Given the description of an element on the screen output the (x, y) to click on. 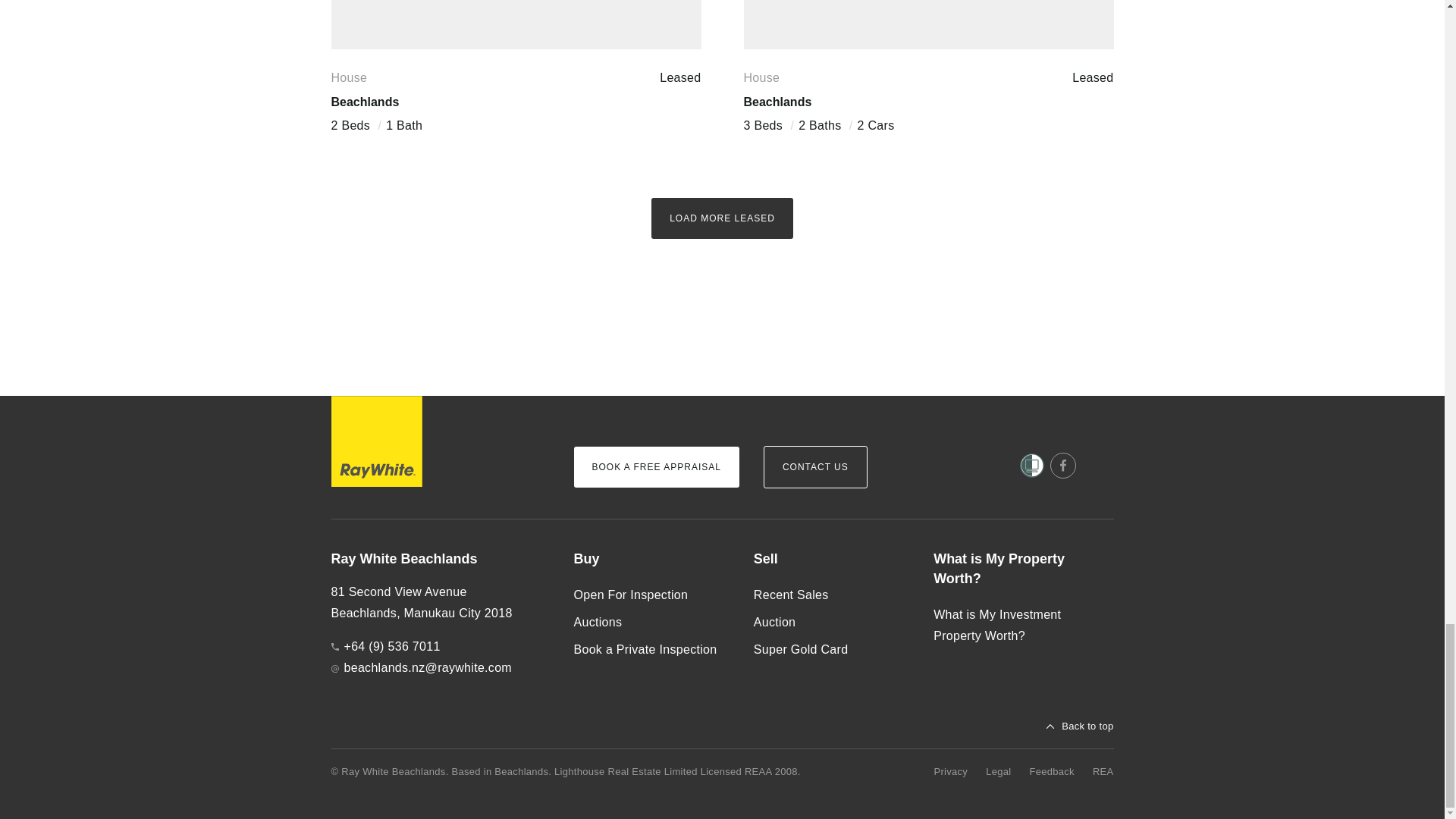
BOOK A FREE APPRAISAL (655, 466)
Beachlands (364, 101)
LEASED (515, 24)
Ray White (376, 440)
Beachlands (776, 101)
Facebook (1062, 465)
LOAD MORE LEASED (721, 218)
LEASED (927, 24)
CONTACT US (814, 466)
Ray White Beachlands (439, 559)
